Given the description of an element on the screen output the (x, y) to click on. 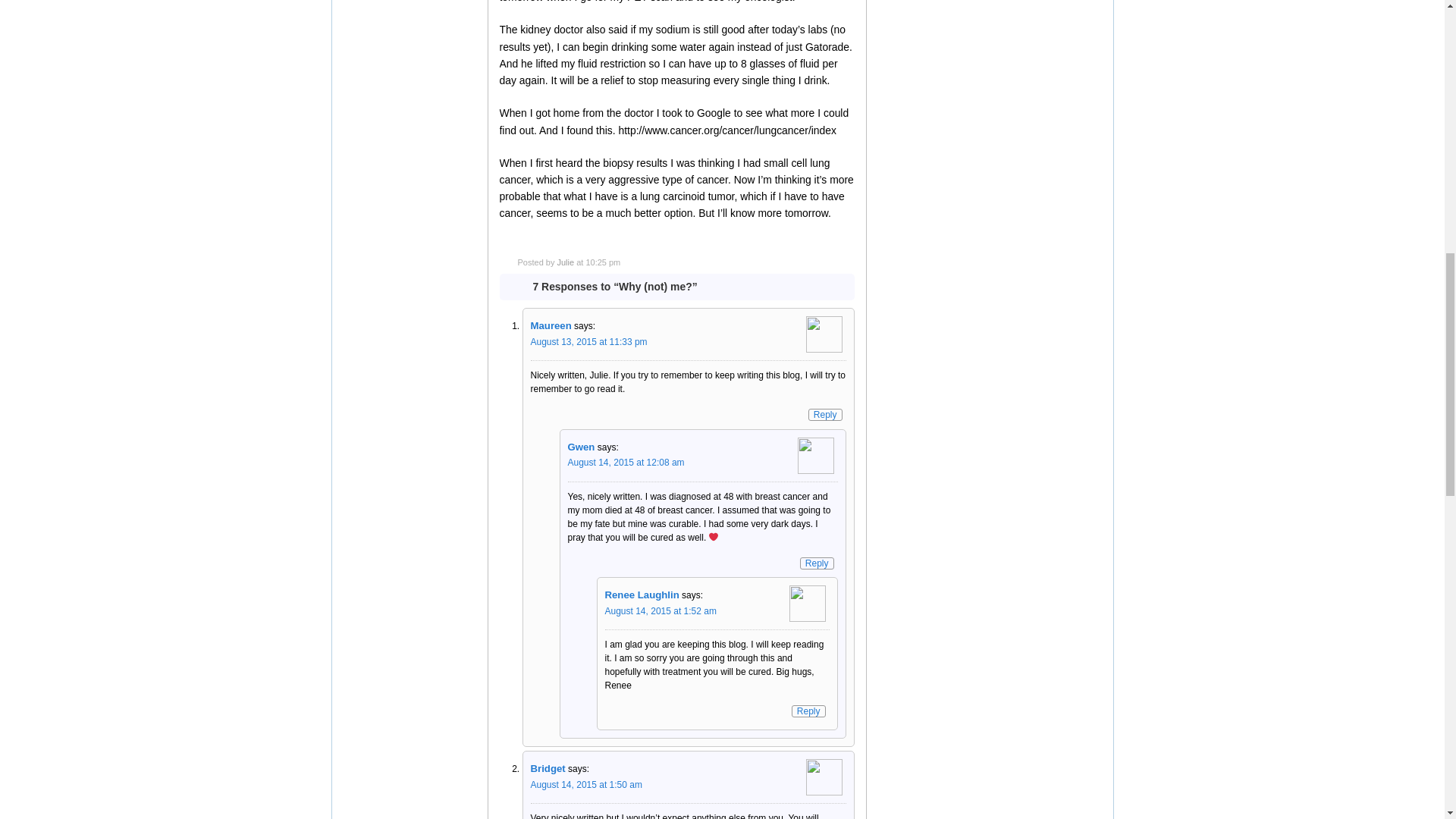
Reply (808, 711)
August 14, 2015 at 12:08 am (625, 462)
Reply (816, 563)
Reply (825, 414)
August 14, 2015 at 1:52 am (660, 611)
Julie (564, 261)
August 14, 2015 at 1:50 am (586, 784)
August 13, 2015 at 11:33 pm (589, 341)
